Given the description of an element on the screen output the (x, y) to click on. 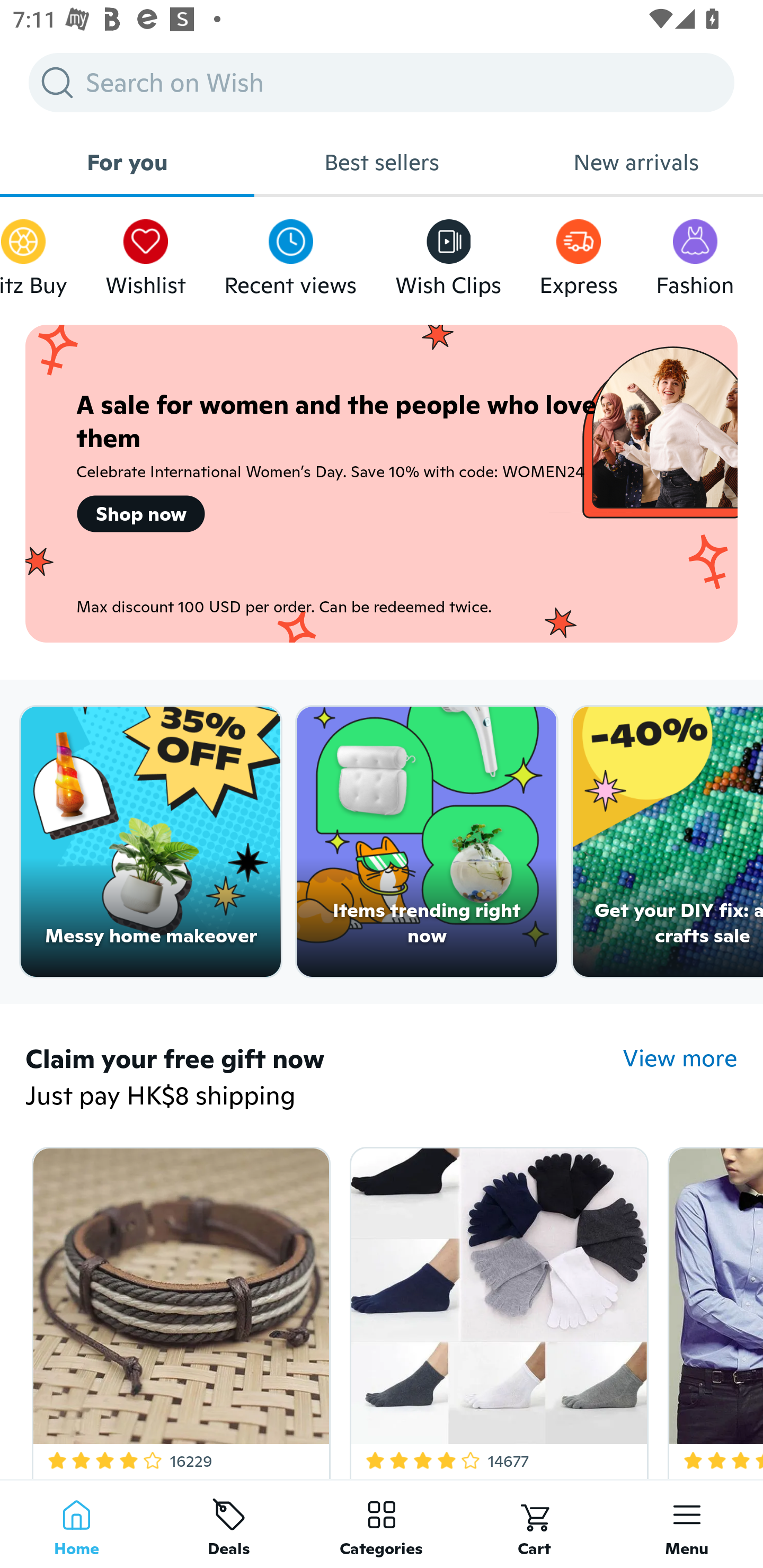
Search on Wish (381, 82)
For you (127, 161)
Best sellers (381, 161)
New arrivals (635, 161)
Blitz Buy (33, 252)
Wishlist (145, 252)
Recent views (290, 252)
Wish Clips (448, 252)
Express (578, 252)
Fashion (695, 252)
Messy home makeover (150, 841)
Items trending right now (426, 841)
Get your DIY fix: arts & crafts sale (668, 841)
Claim your free gift now
Just pay HK$8 shipping (323, 1078)
View more (679, 1058)
3.8 Star Rating 16229 Free (177, 1308)
4.2 Star Rating 14677 Free (495, 1308)
Home (76, 1523)
Deals (228, 1523)
Categories (381, 1523)
Cart (533, 1523)
Menu (686, 1523)
